Given the description of an element on the screen output the (x, y) to click on. 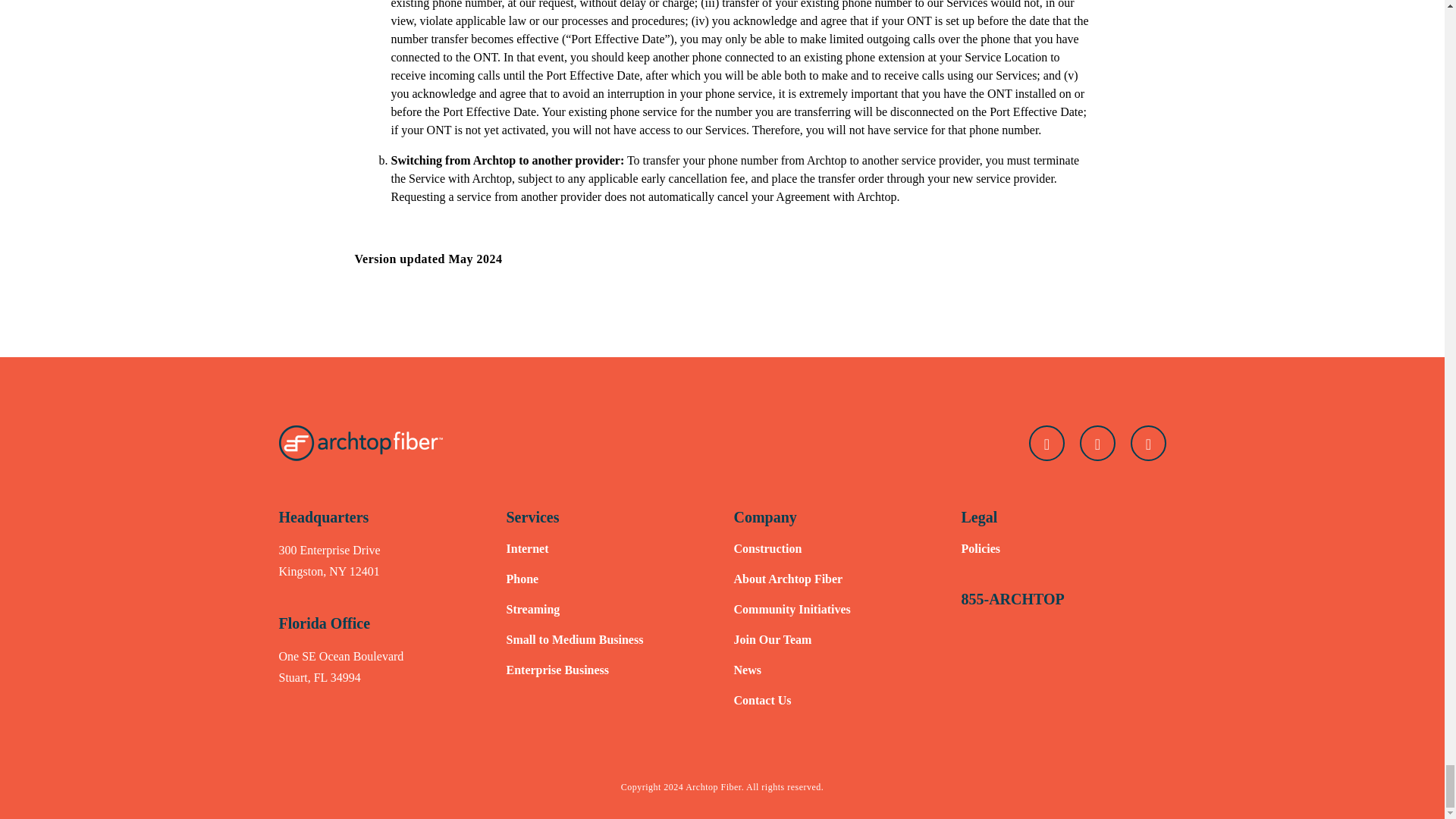
Contact Us (762, 699)
Phone (522, 578)
855-ARCHTOP (1012, 598)
News (747, 669)
Streaming (533, 608)
About Archtop Fiber (788, 578)
Enterprise Business (558, 669)
Internet (527, 548)
Construction (767, 548)
Community Initiatives (791, 608)
